Given the description of an element on the screen output the (x, y) to click on. 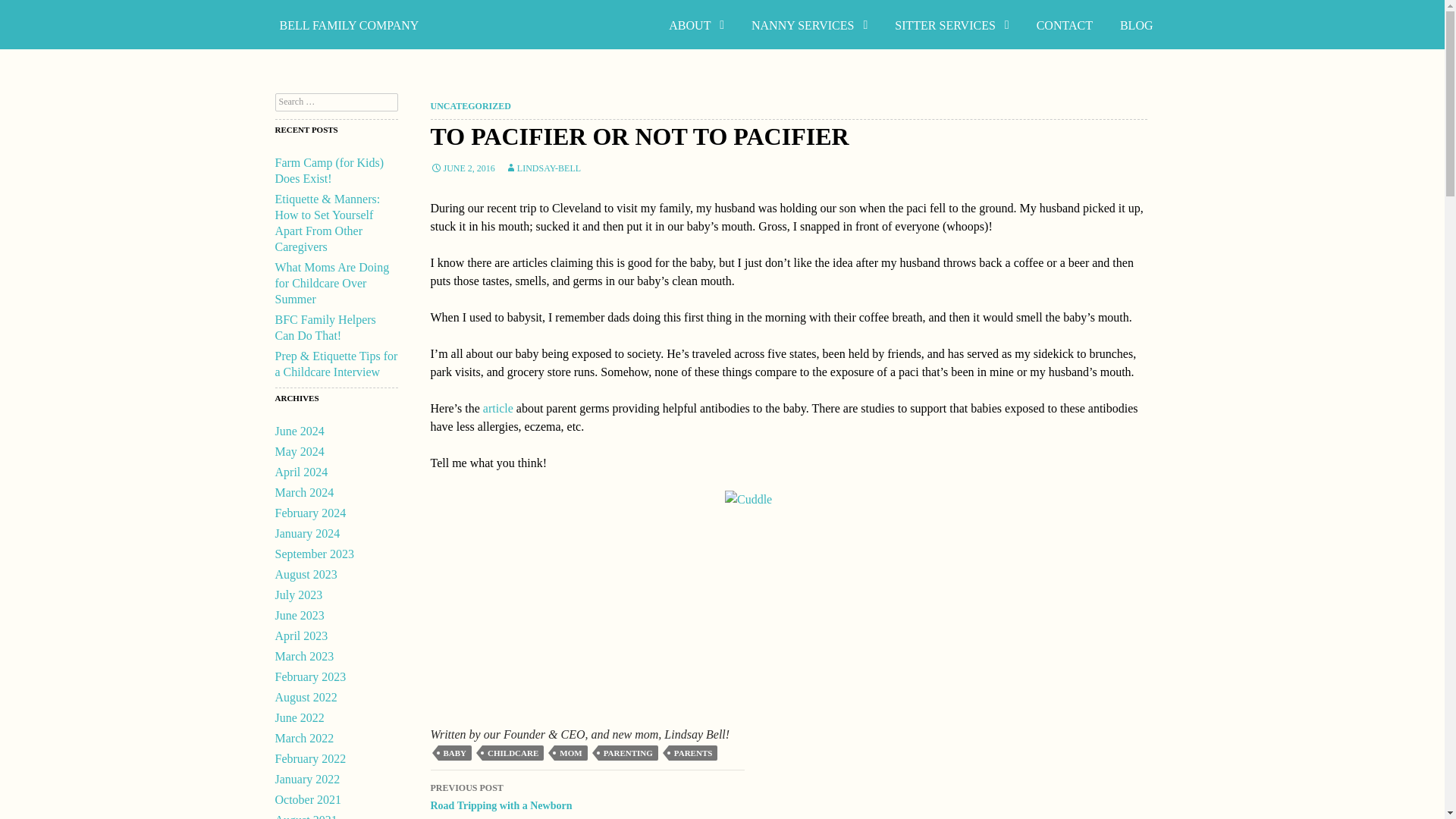
CONTACT (1065, 25)
BELL FAMILY COMPANY (349, 24)
NANNY SERVICES (809, 25)
Nanny Services (809, 25)
BLOG (1137, 25)
SITTER SERVICES (951, 25)
About (696, 25)
ABOUT (696, 25)
Sitter Services (951, 25)
